Given the description of an element on the screen output the (x, y) to click on. 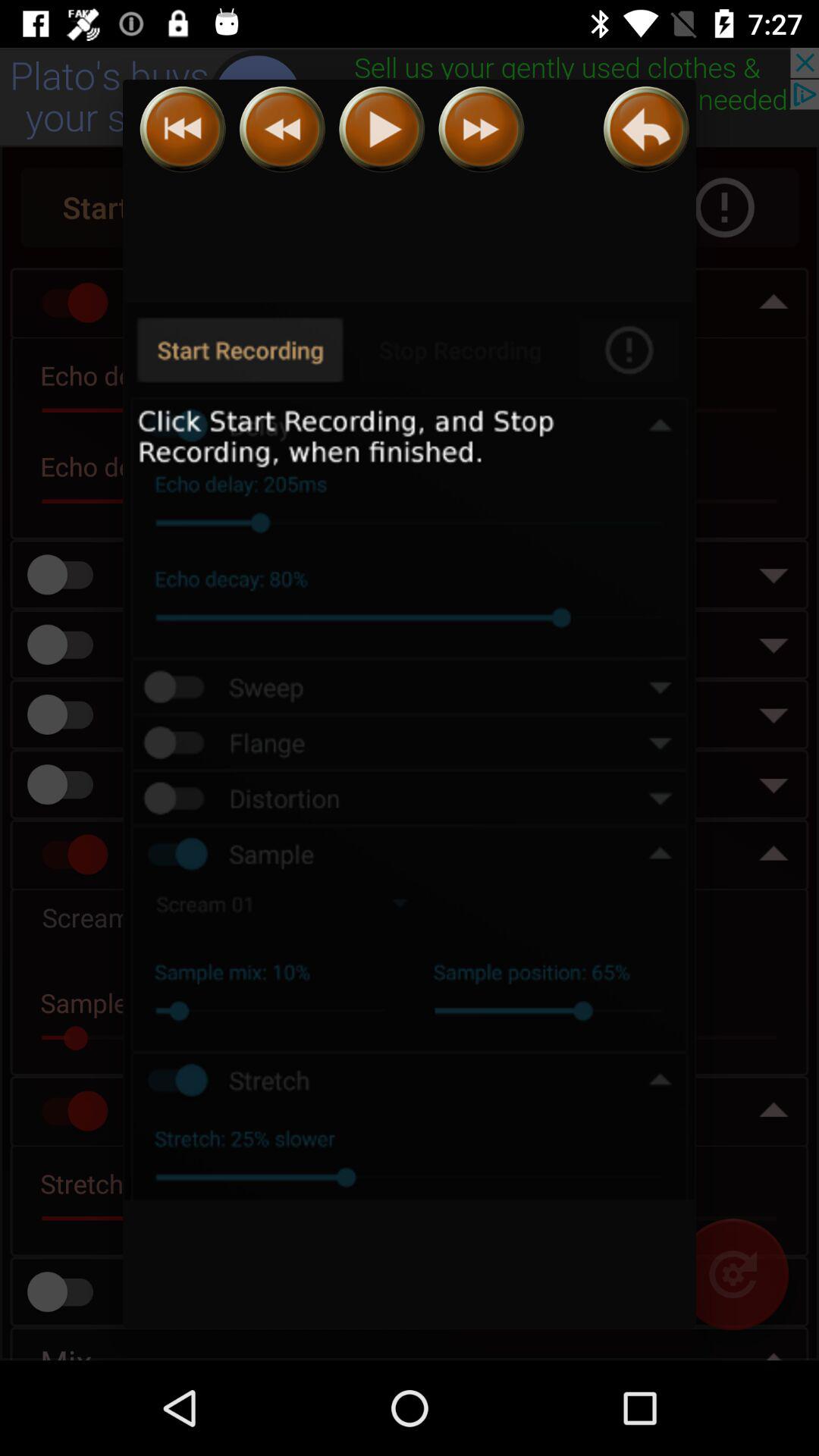
go to previous song (182, 129)
